Given the description of an element on the screen output the (x, y) to click on. 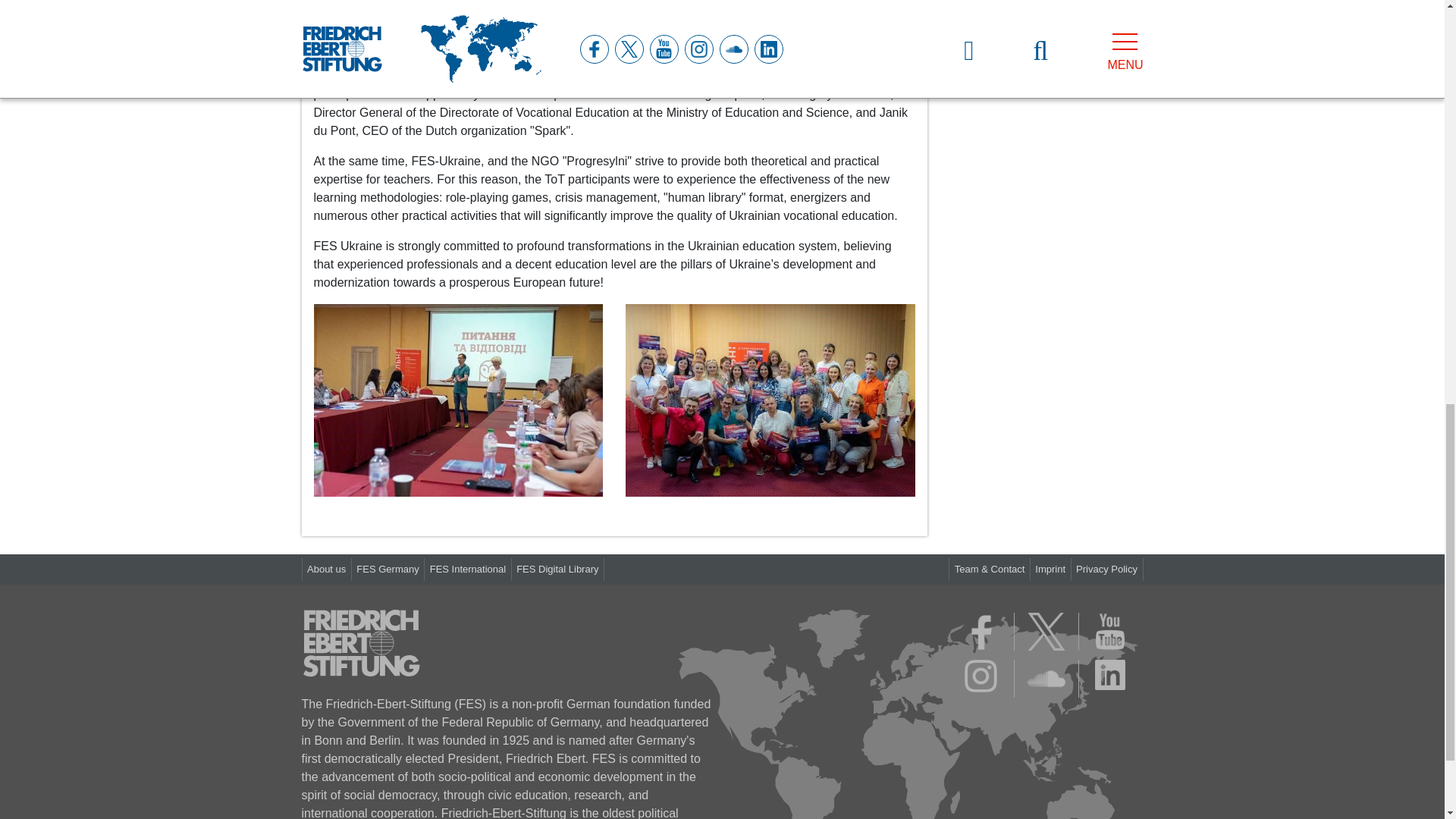
ToT Proftech (459, 399)
ToT Proftech (459, 399)
ToT Proftech (770, 399)
ToT Proftech (770, 399)
